Given the description of an element on the screen output the (x, y) to click on. 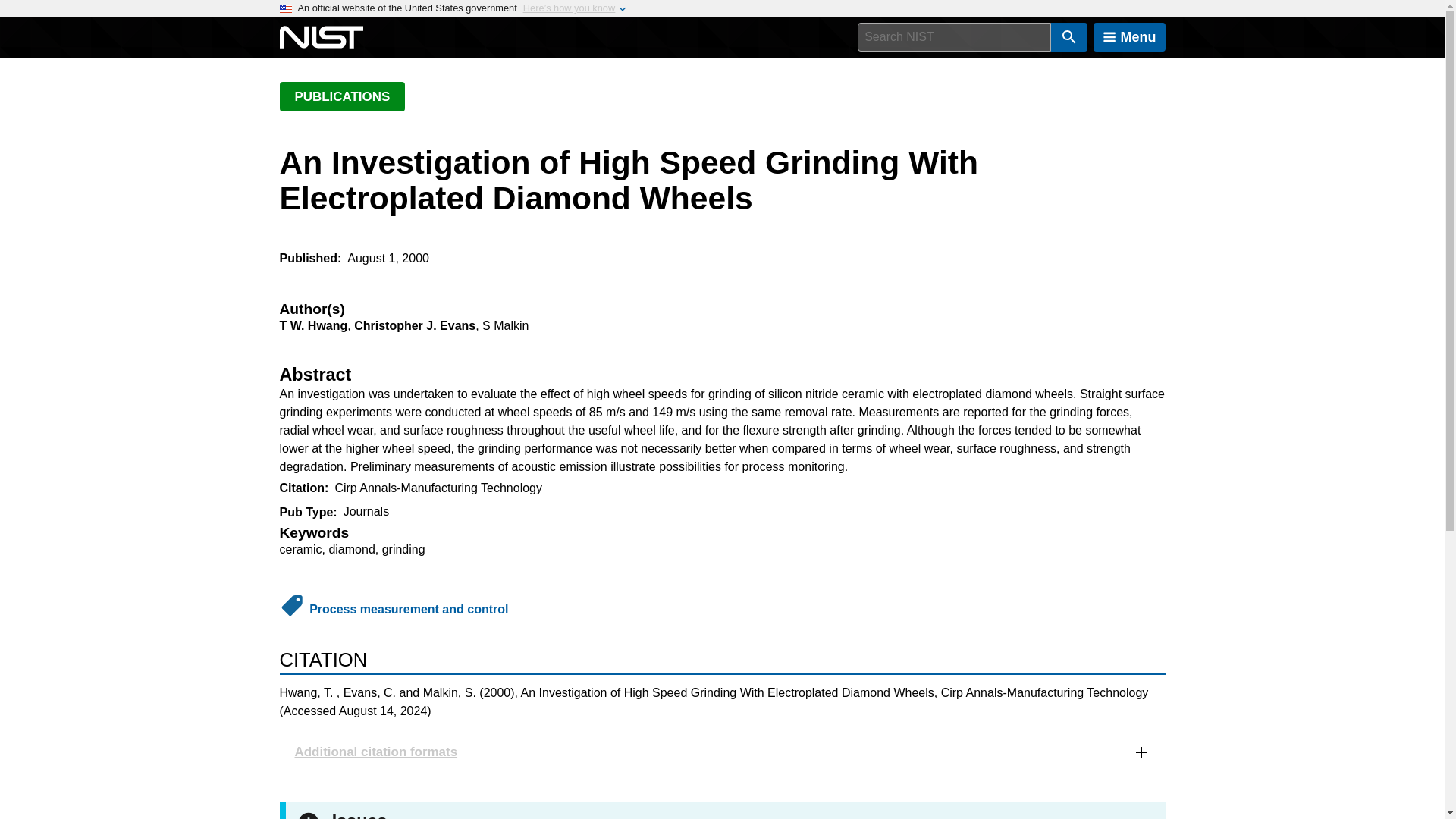
National Institute of Standards and Technology (320, 36)
Menu (1129, 36)
Process measurement and control (408, 608)
PUBLICATIONS (341, 96)
Additional citation formats (721, 751)
